Given the description of an element on the screen output the (x, y) to click on. 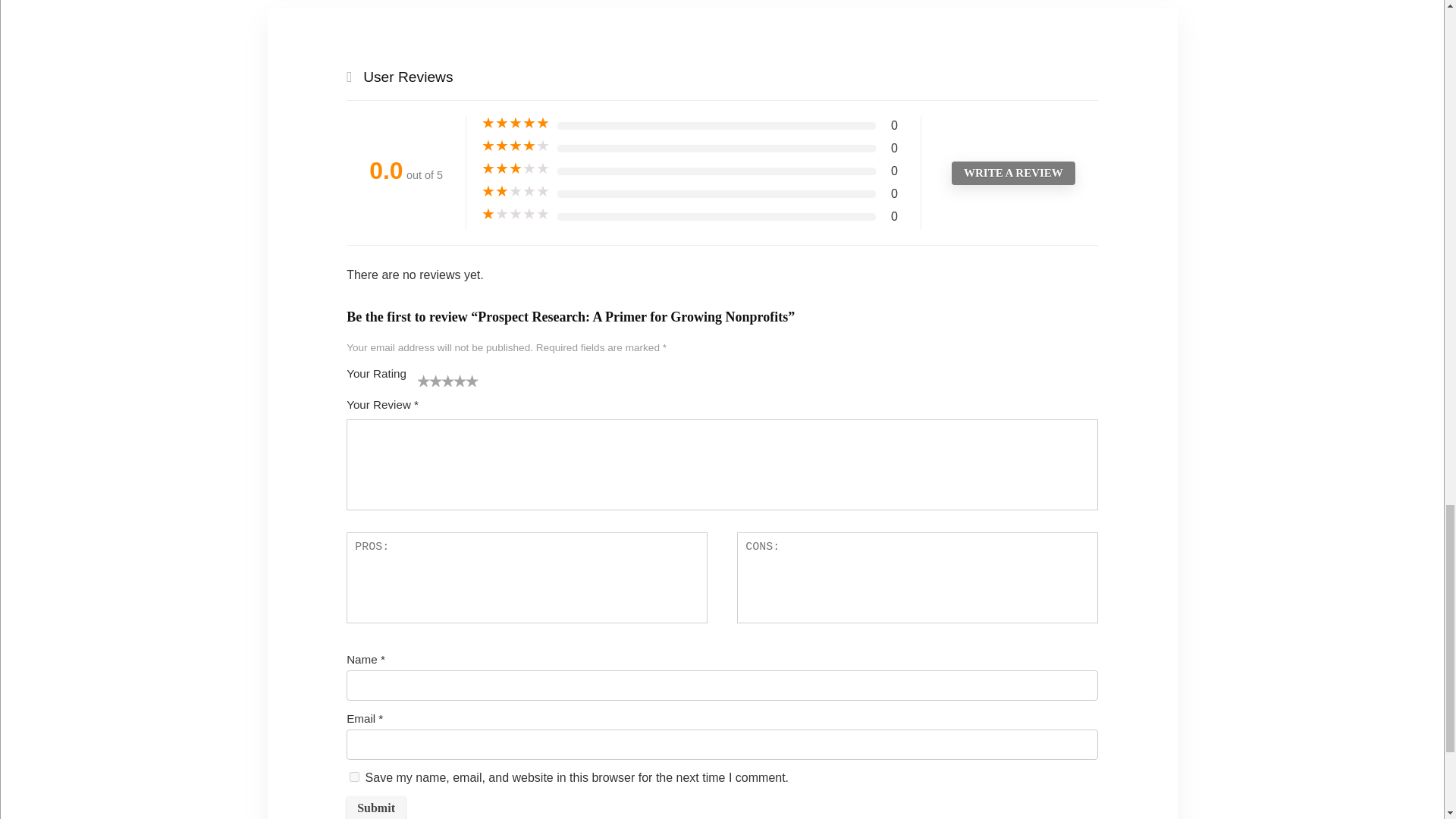
Rated 1 out of 5 (515, 214)
Rated 2 out of 5 (515, 191)
Rated 4 out of 5 (515, 145)
Submit (376, 807)
WRITE A REVIEW (1013, 173)
Rated 3 out of 5 (515, 168)
Rated 5 out of 5 (515, 123)
yes (354, 777)
